Given the description of an element on the screen output the (x, y) to click on. 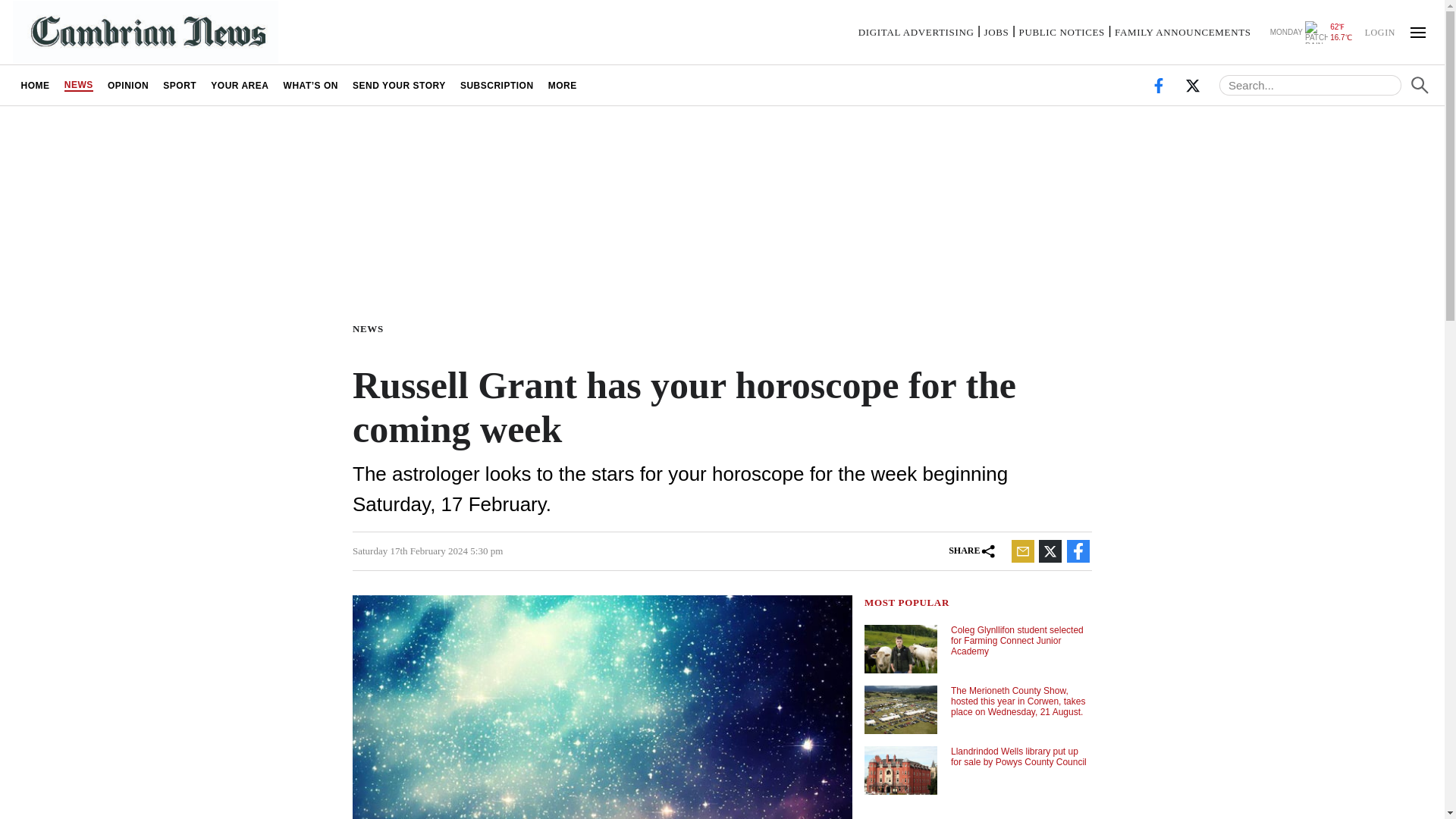
HOME (34, 85)
YOUR AREA (239, 85)
LOGIN (1379, 31)
FAMILY ANNOUNCEMENTS (1182, 32)
MORE (561, 85)
OPINION (127, 85)
NEWS (371, 328)
SPORT (179, 85)
